Given the description of an element on the screen output the (x, y) to click on. 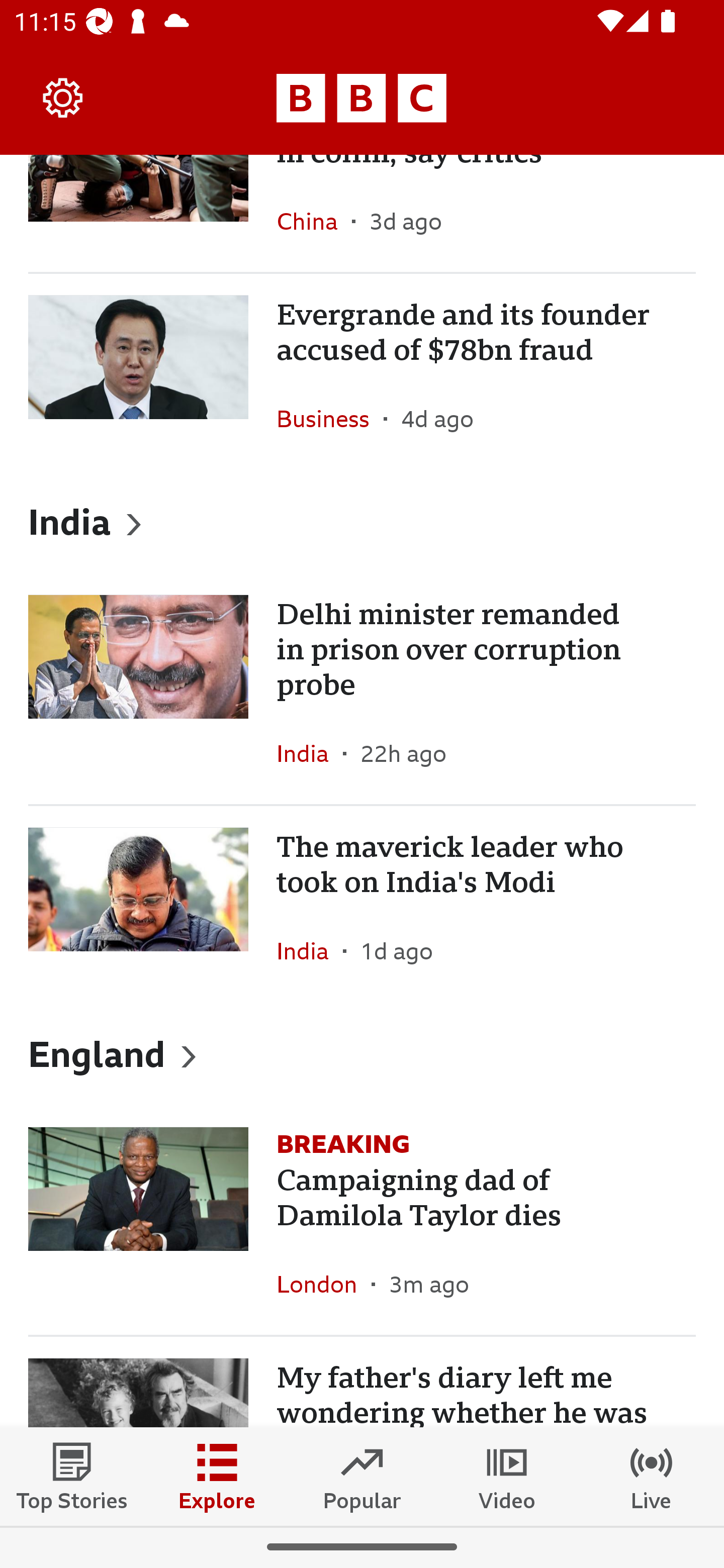
Settings (63, 97)
China In the section China (313, 220)
Business In the section Business (329, 418)
India, Heading India    (361, 520)
India In the section India (309, 753)
India In the section India (309, 950)
England, Heading England    (361, 1053)
London In the section London (323, 1284)
Top Stories (72, 1475)
Popular (361, 1475)
Video (506, 1475)
Live (651, 1475)
